Given the description of an element on the screen output the (x, y) to click on. 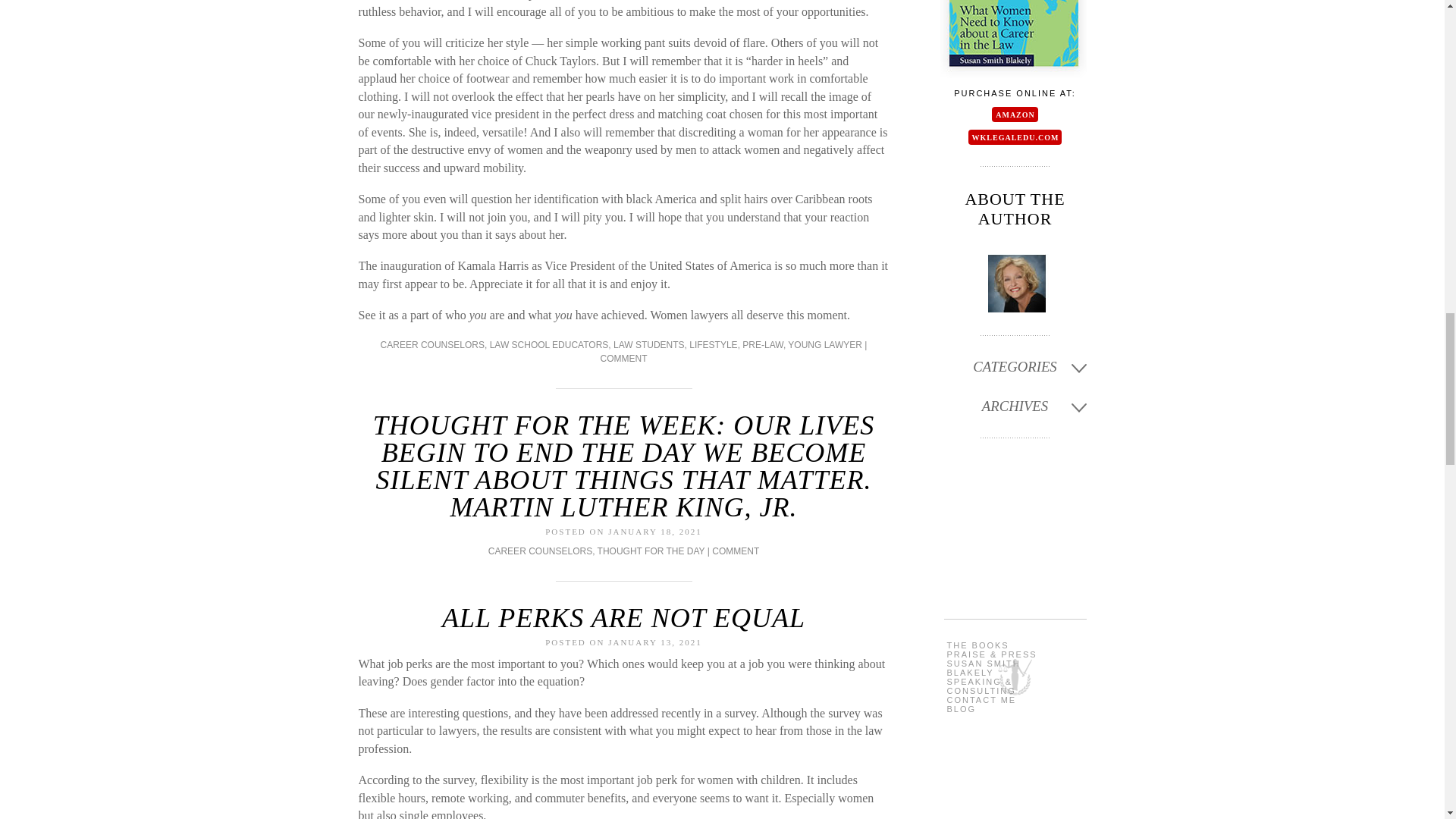
Permalink to All Perks Are Not Equal (623, 617)
